Given the description of an element on the screen output the (x, y) to click on. 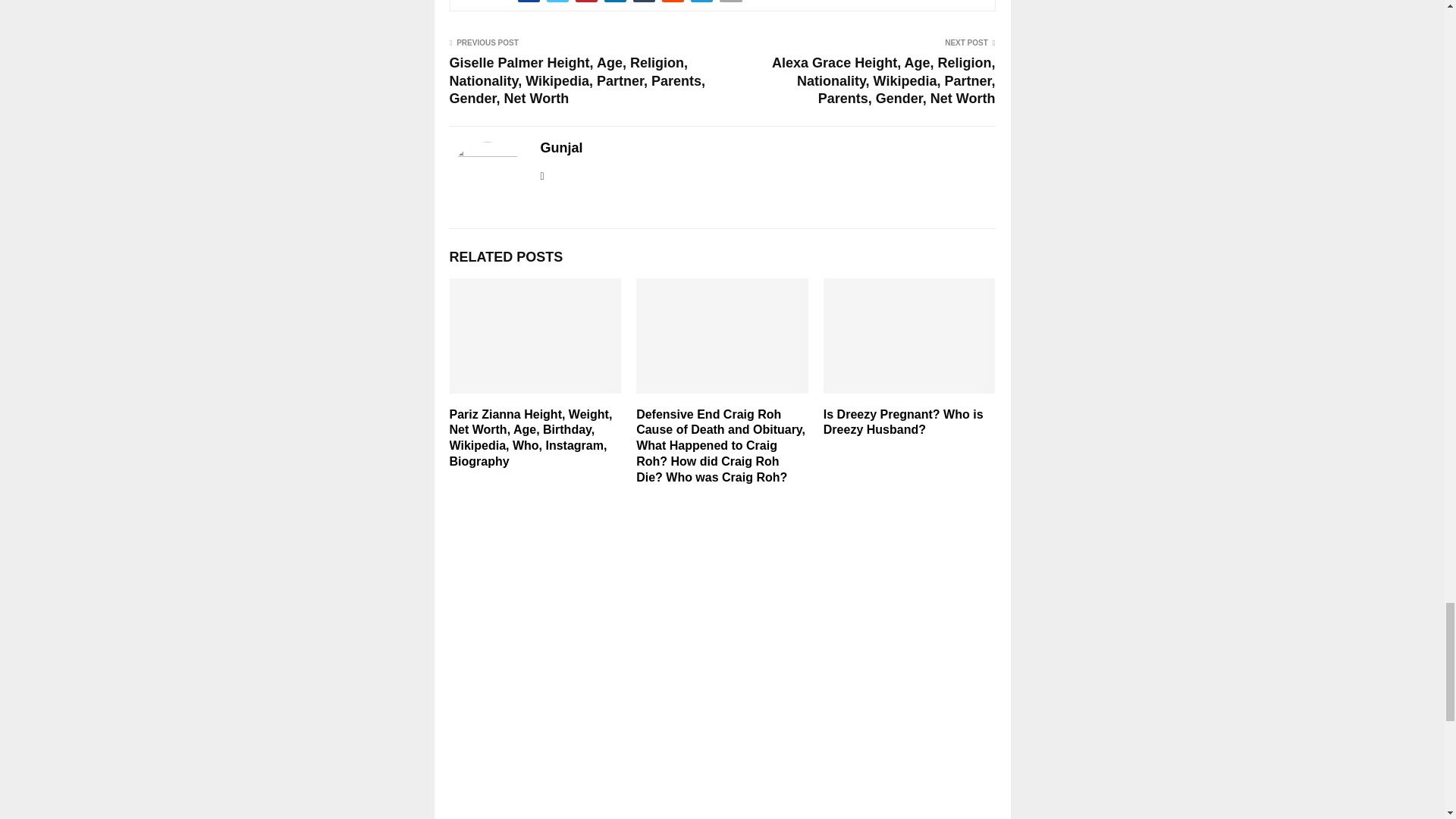
Gunjal (561, 148)
